Given the description of an element on the screen output the (x, y) to click on. 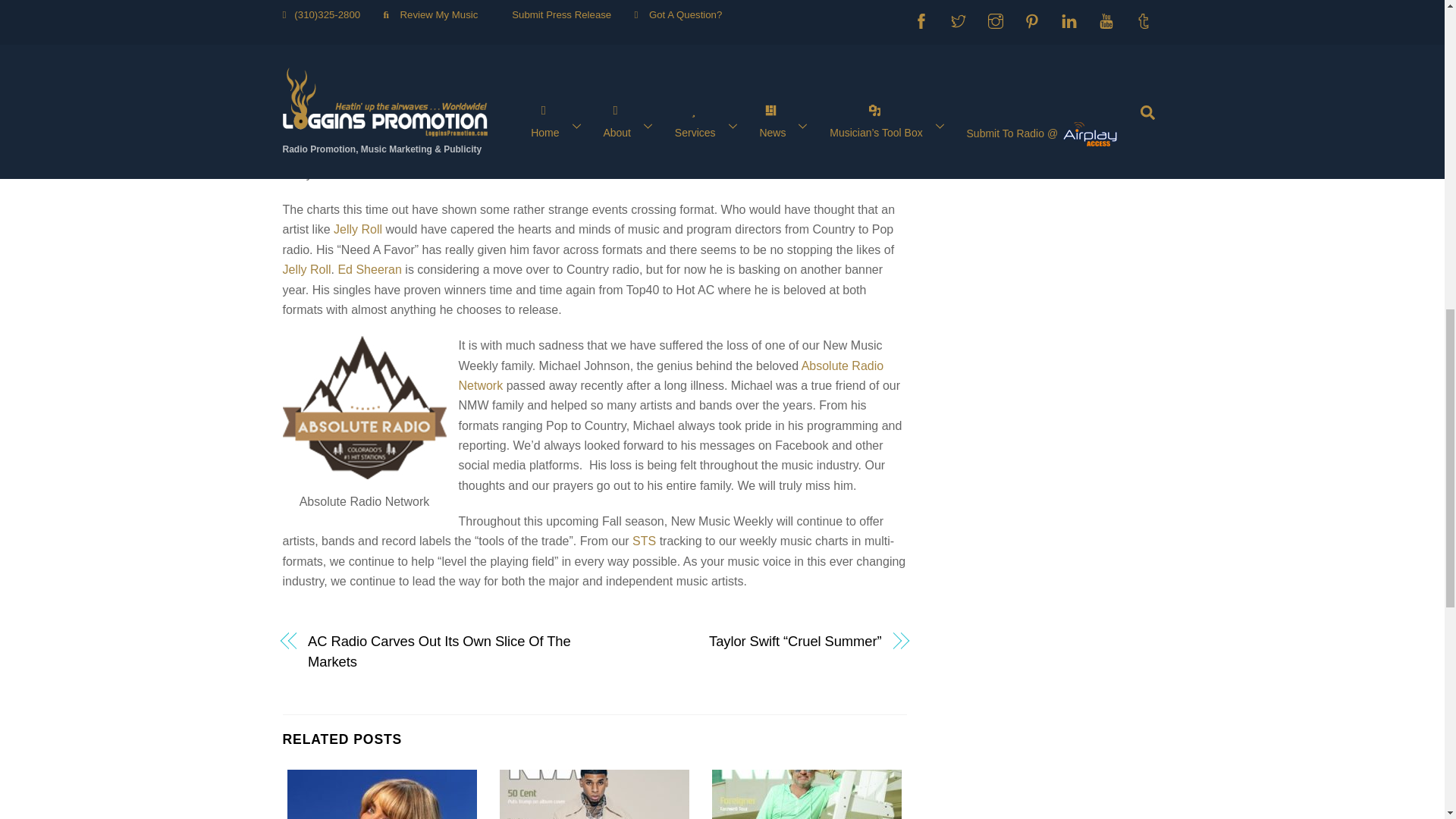
Cover.jpg (806, 794)
Cover.jpg (593, 794)
Sabrina-Carpenter-image-300x298.jpg (381, 794)
